Given the description of an element on the screen output the (x, y) to click on. 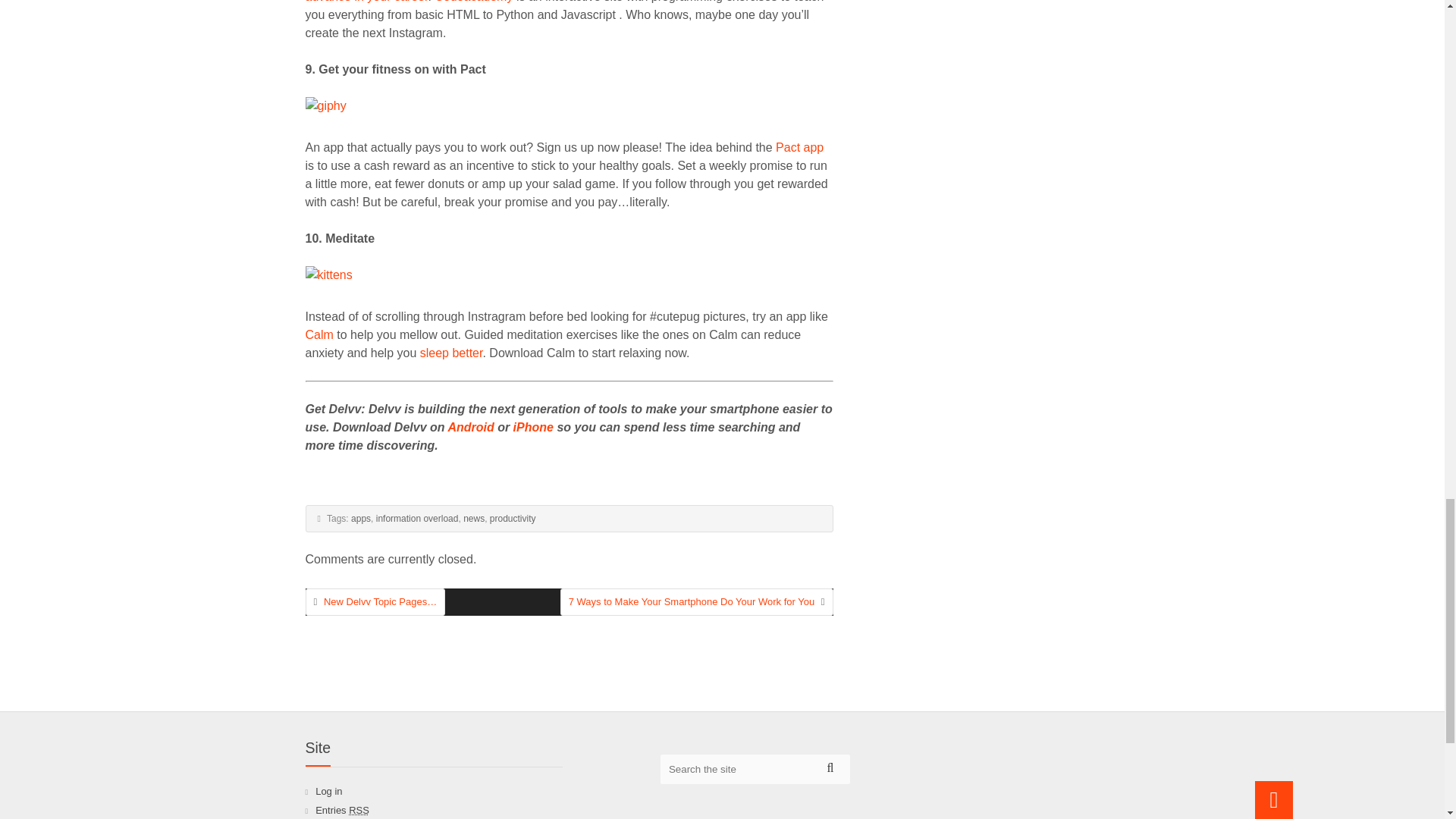
apps (360, 518)
news (473, 518)
Log in (328, 790)
productivity (512, 518)
iPhone (533, 427)
Android (469, 427)
Really Simple Syndication (359, 809)
Codeacademy (472, 1)
Pact app (800, 146)
information overload (416, 518)
